Given the description of an element on the screen output the (x, y) to click on. 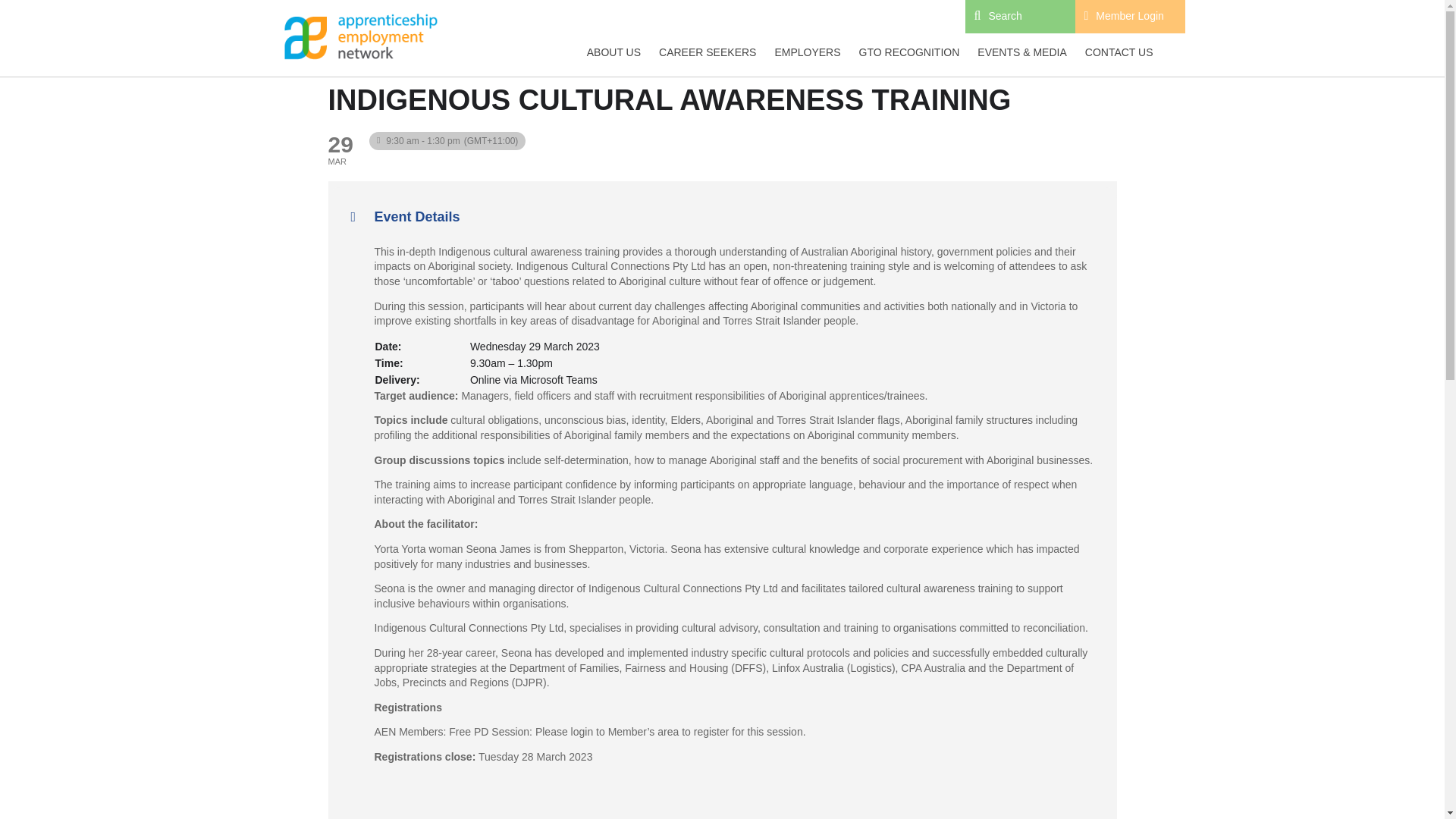
ABOUT US (613, 53)
CAREER SEEKERS (707, 53)
About Us (613, 53)
Apprenticeship Employment Network (359, 37)
Apprenticeship Employment Network (360, 37)
